Given the description of an element on the screen output the (x, y) to click on. 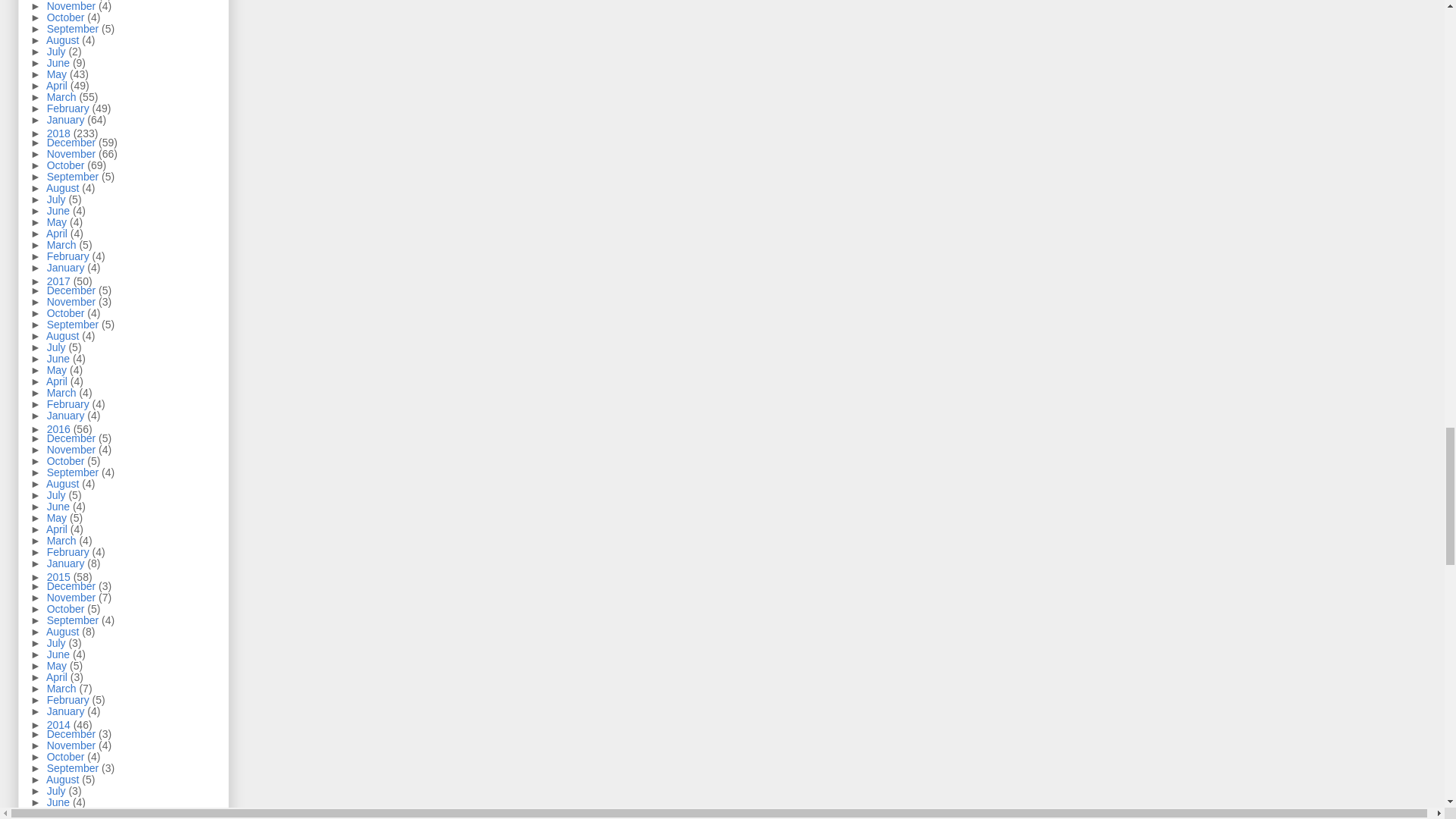
November (72, 6)
December (72, 0)
October (66, 17)
